Given the description of an element on the screen output the (x, y) to click on. 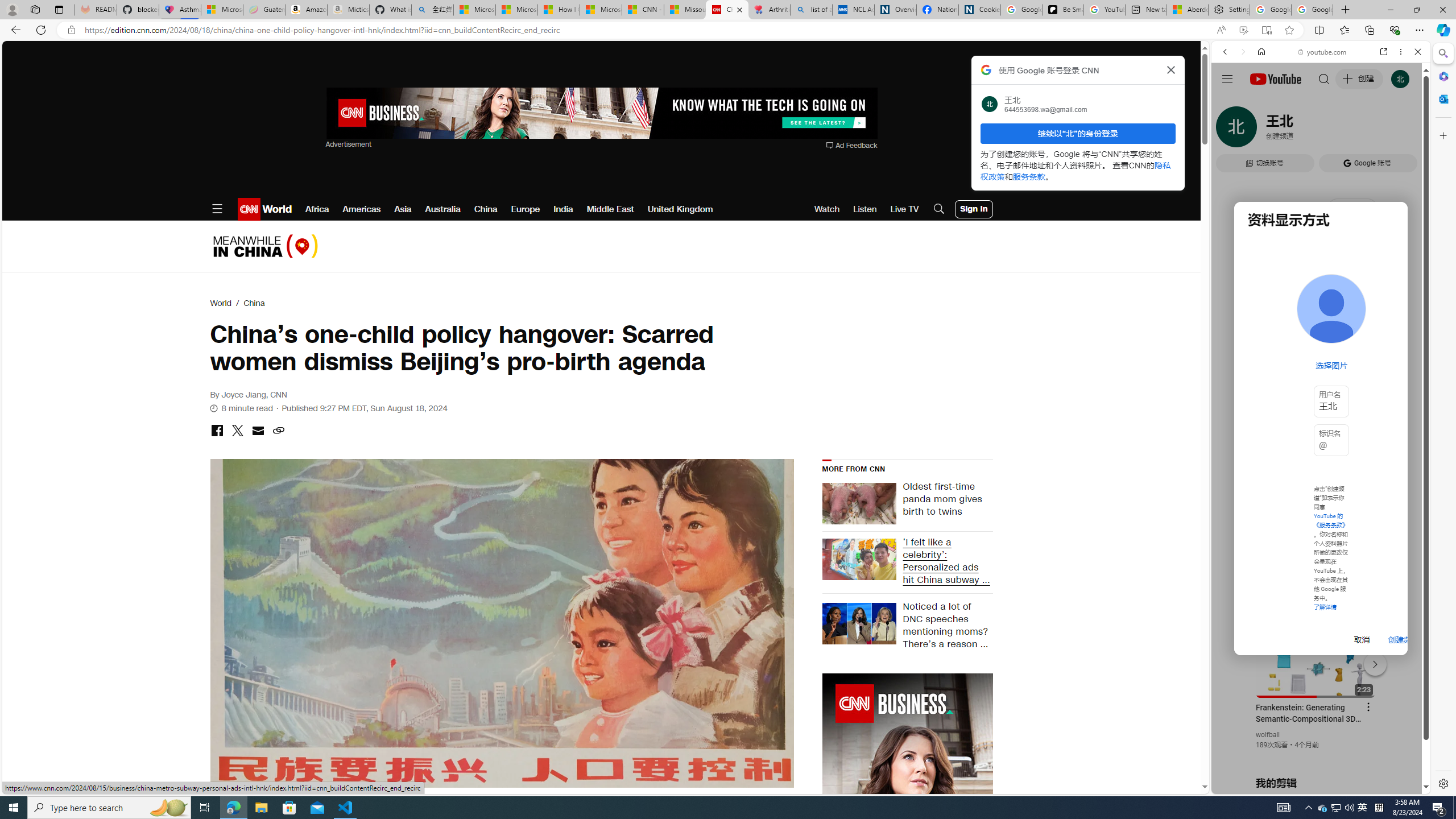
NCL Adult Asthma Inhaler Choice Guideline (853, 9)
#you (1315, 659)
Music (1320, 309)
share with email (257, 431)
Listen (864, 208)
How I Got Rid of Microsoft Edge's Unnecessary Features (558, 9)
